Given the description of an element on the screen output the (x, y) to click on. 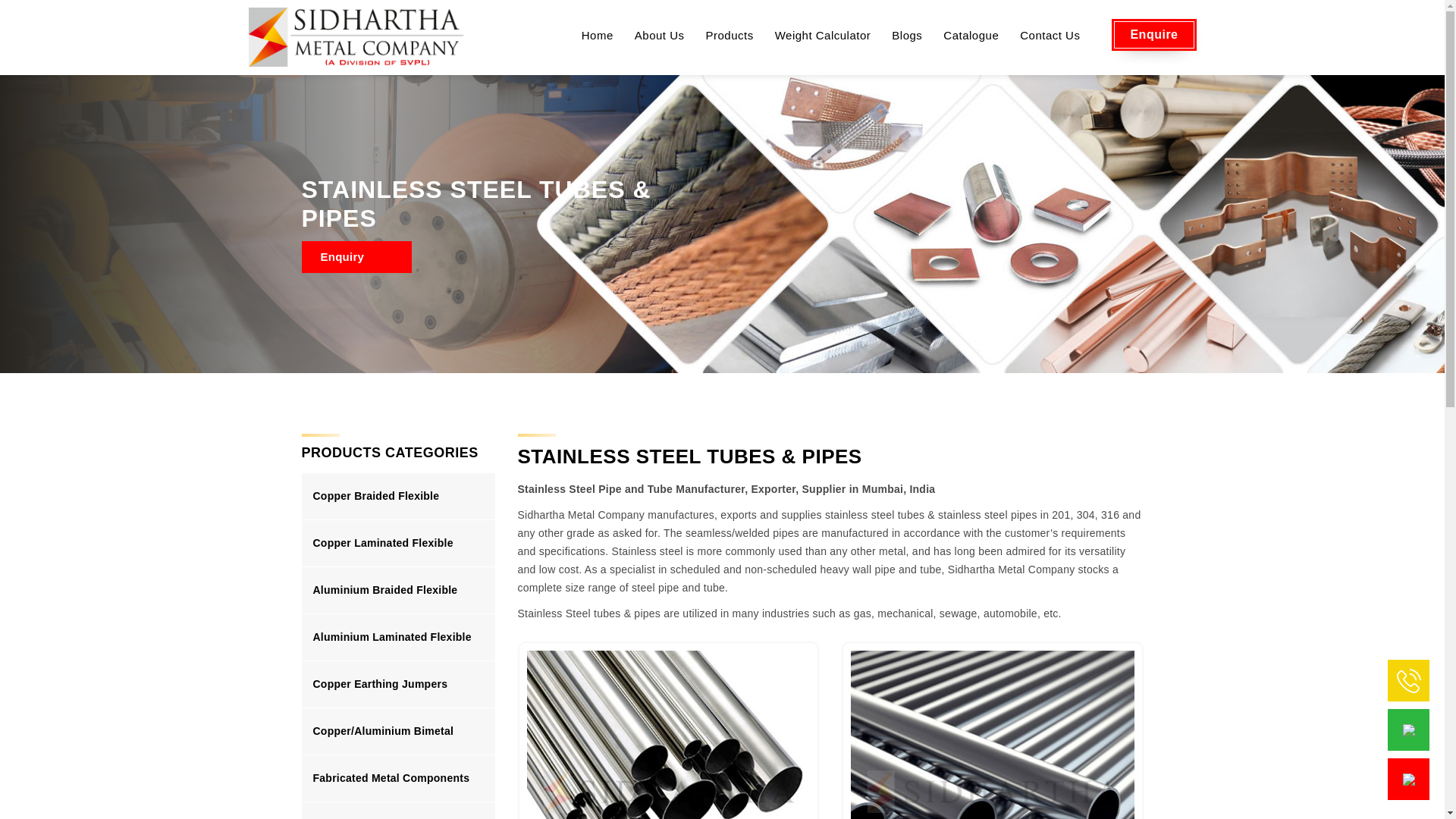
whatsapp (1409, 729)
Tel (1408, 680)
Logo (357, 36)
Products (728, 36)
About Us (660, 36)
Contact-Form (1409, 778)
Home (597, 36)
